Given the description of an element on the screen output the (x, y) to click on. 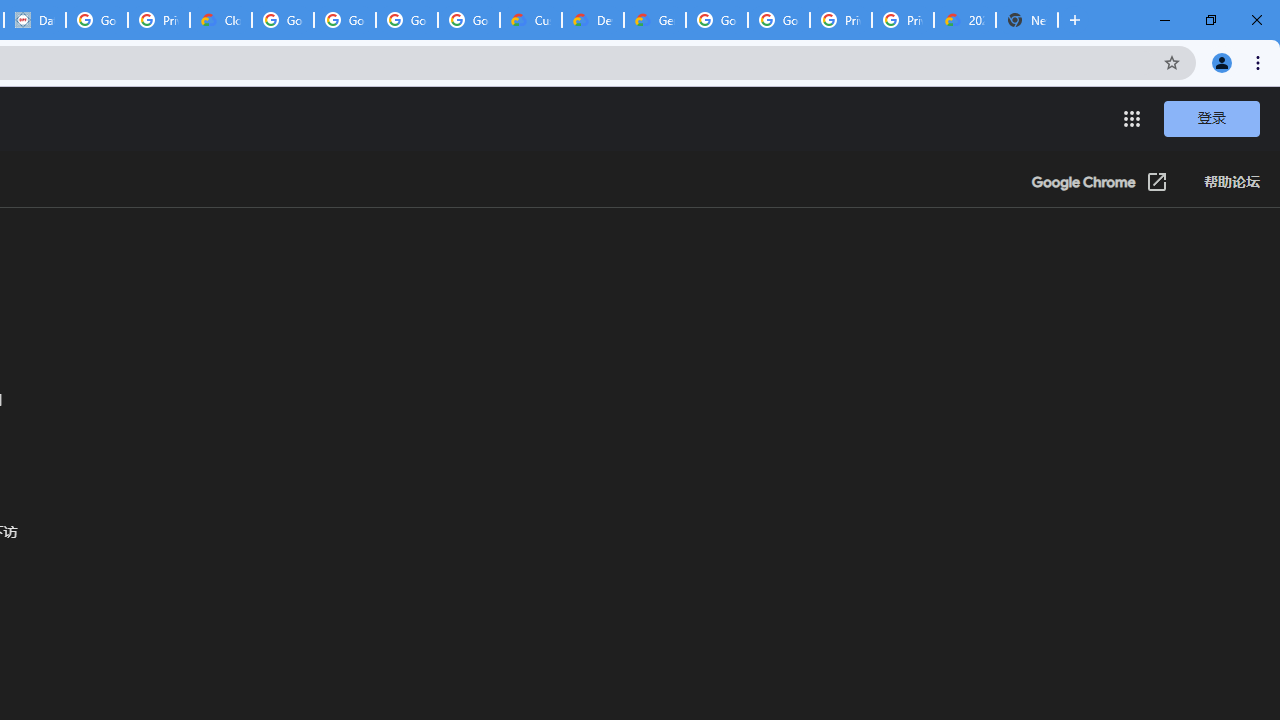
Cloud Data Processing Addendum | Google Cloud (220, 20)
